Given the description of an element on the screen output the (x, y) to click on. 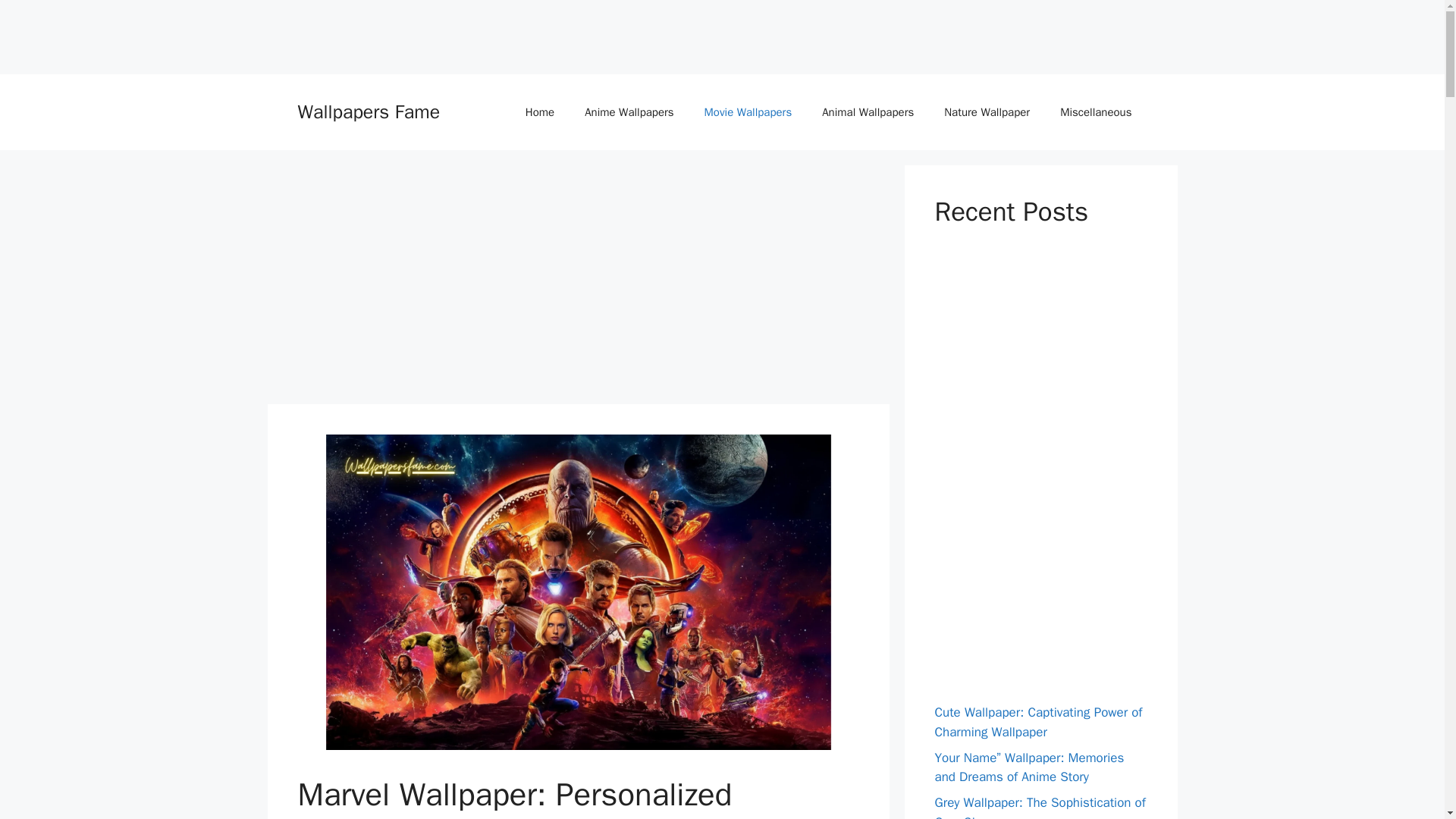
Cute Wallpaper: Captivating Power of Charming Wallpaper (1037, 722)
Advertisement (1047, 469)
Miscellaneous (1096, 112)
Wallpapers Fame (368, 111)
Home (540, 112)
Advertisement (578, 279)
Animal Wallpapers (867, 112)
Movie Wallpapers (748, 112)
Nature Wallpaper (986, 112)
Grey Wallpaper: The Sophistication of Grey Glamour (1039, 806)
Advertisement (275, 33)
Anime Wallpapers (628, 112)
